Given the description of an element on the screen output the (x, y) to click on. 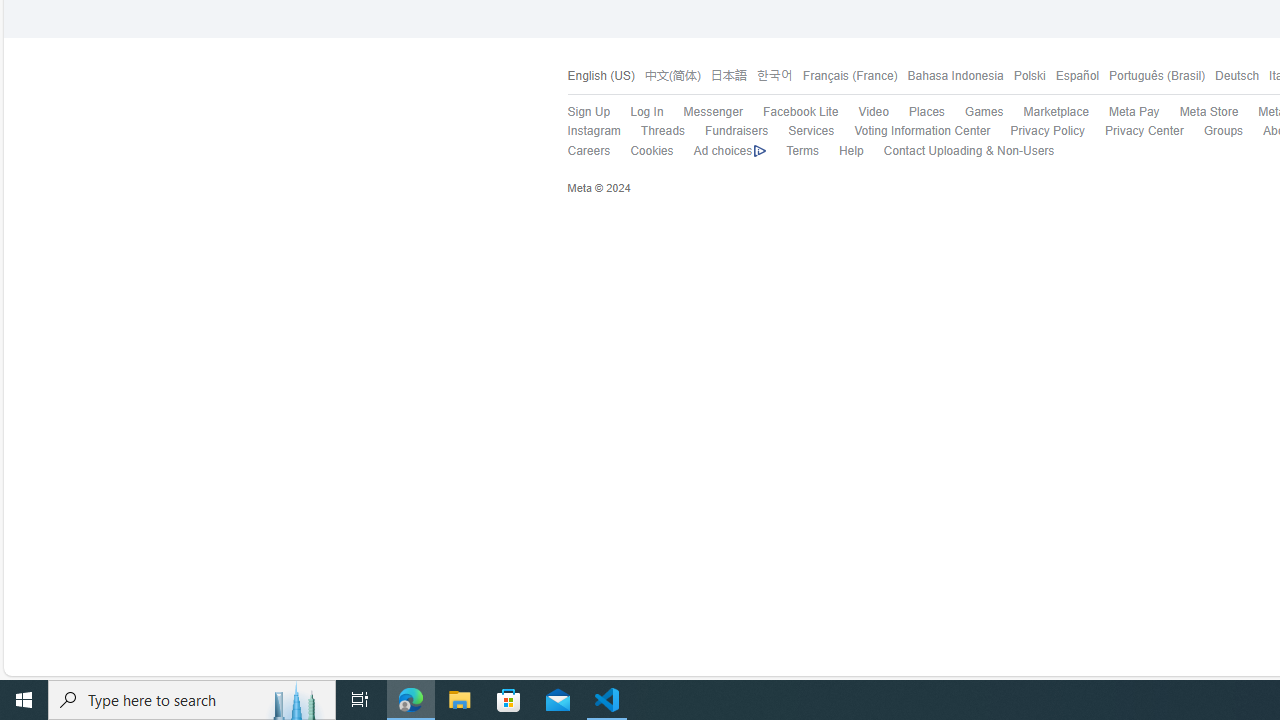
Careers (588, 150)
Contact Uploading & Non-Users (958, 151)
Cookies (651, 150)
Meta Pay (1123, 112)
Marketplace (1055, 112)
Log In (646, 112)
Ad choices (719, 151)
Sign Up (578, 112)
Terms (792, 151)
Voting Information Center (921, 130)
Places (925, 112)
Cookies (642, 151)
Marketplace (1046, 112)
